Given the description of an element on the screen output the (x, y) to click on. 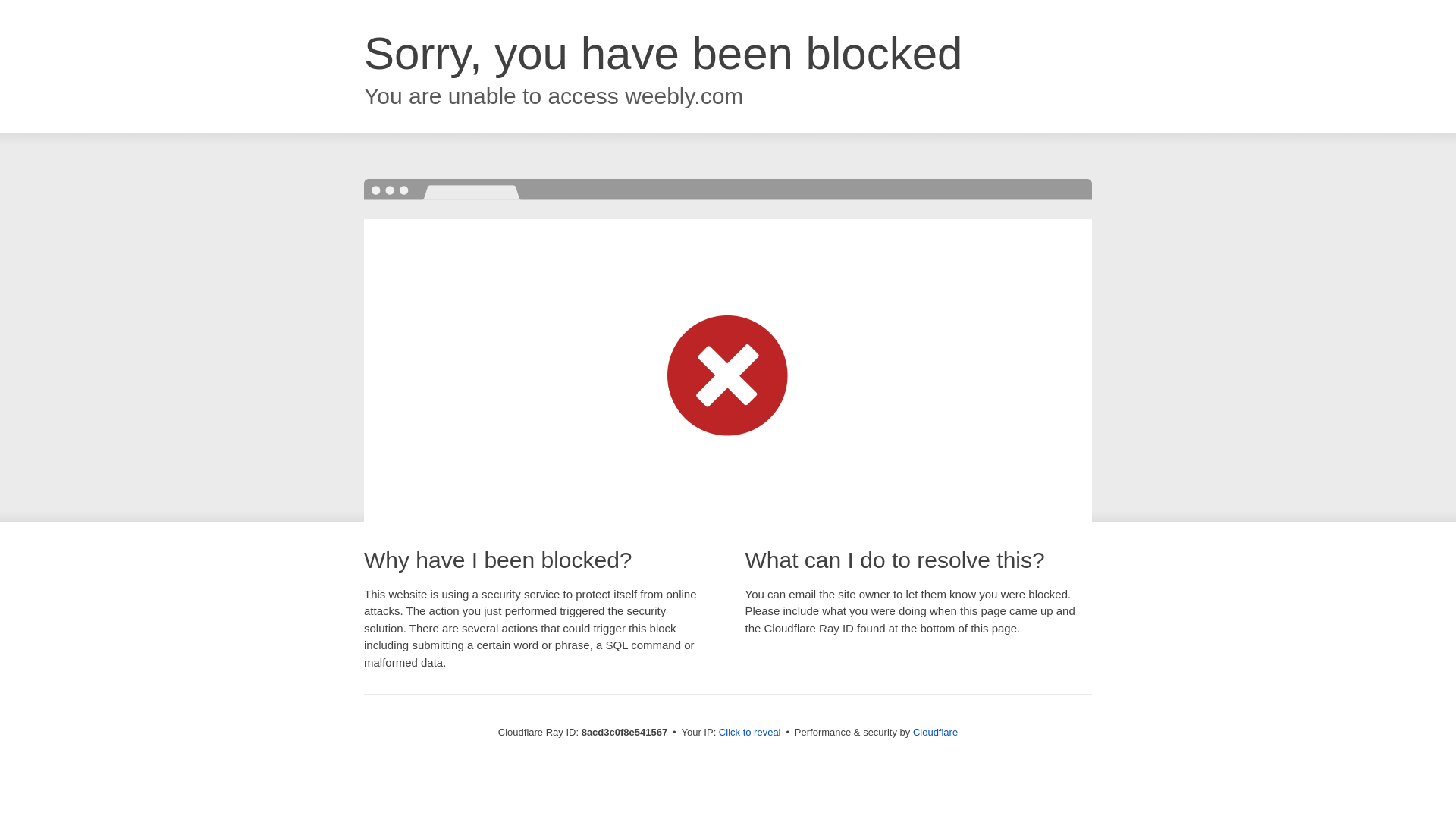
Click to reveal (749, 732)
Cloudflare (935, 731)
